Given the description of an element on the screen output the (x, y) to click on. 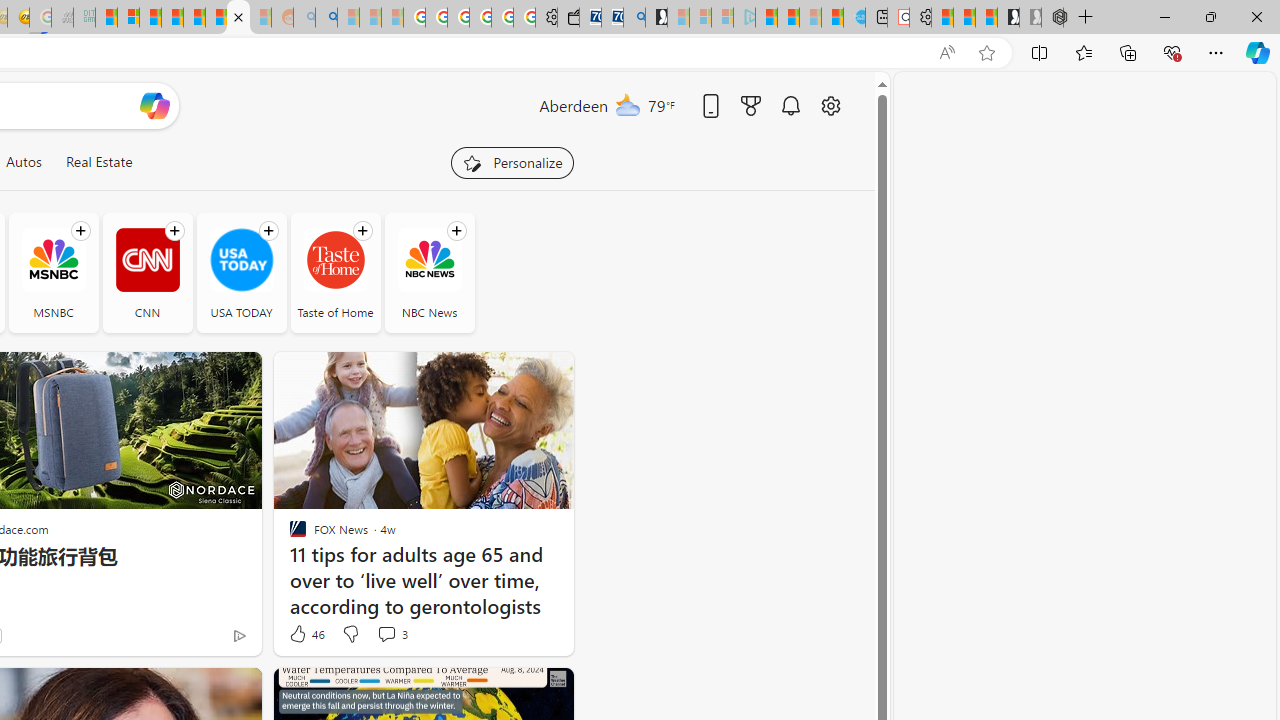
Cheap Car Rentals - Save70.com (612, 17)
Follow channel (456, 231)
